Given the description of an element on the screen output the (x, y) to click on. 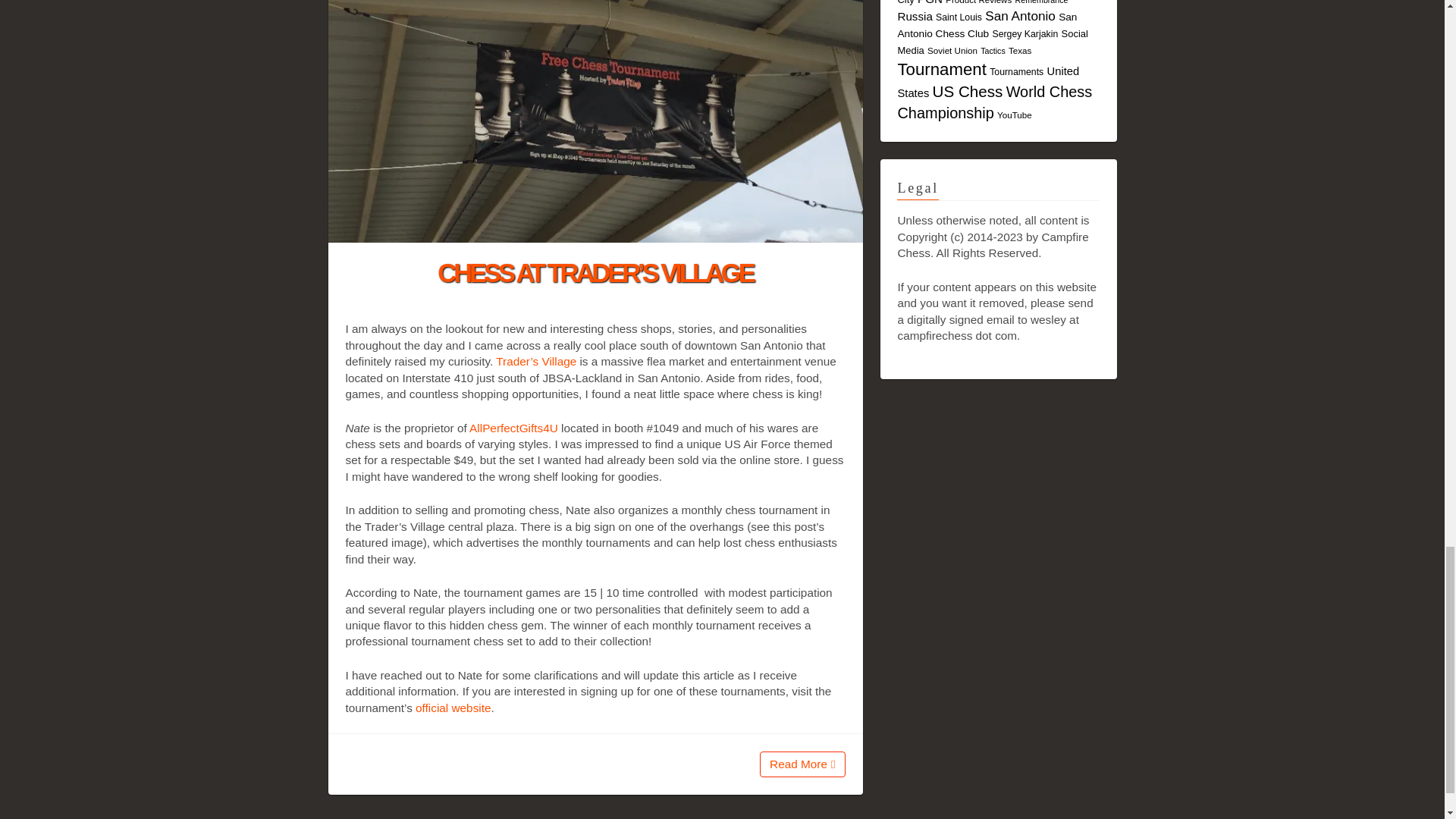
Read More (802, 763)
official website (452, 707)
AllPerfectGifts4U (512, 427)
